Given the description of an element on the screen output the (x, y) to click on. 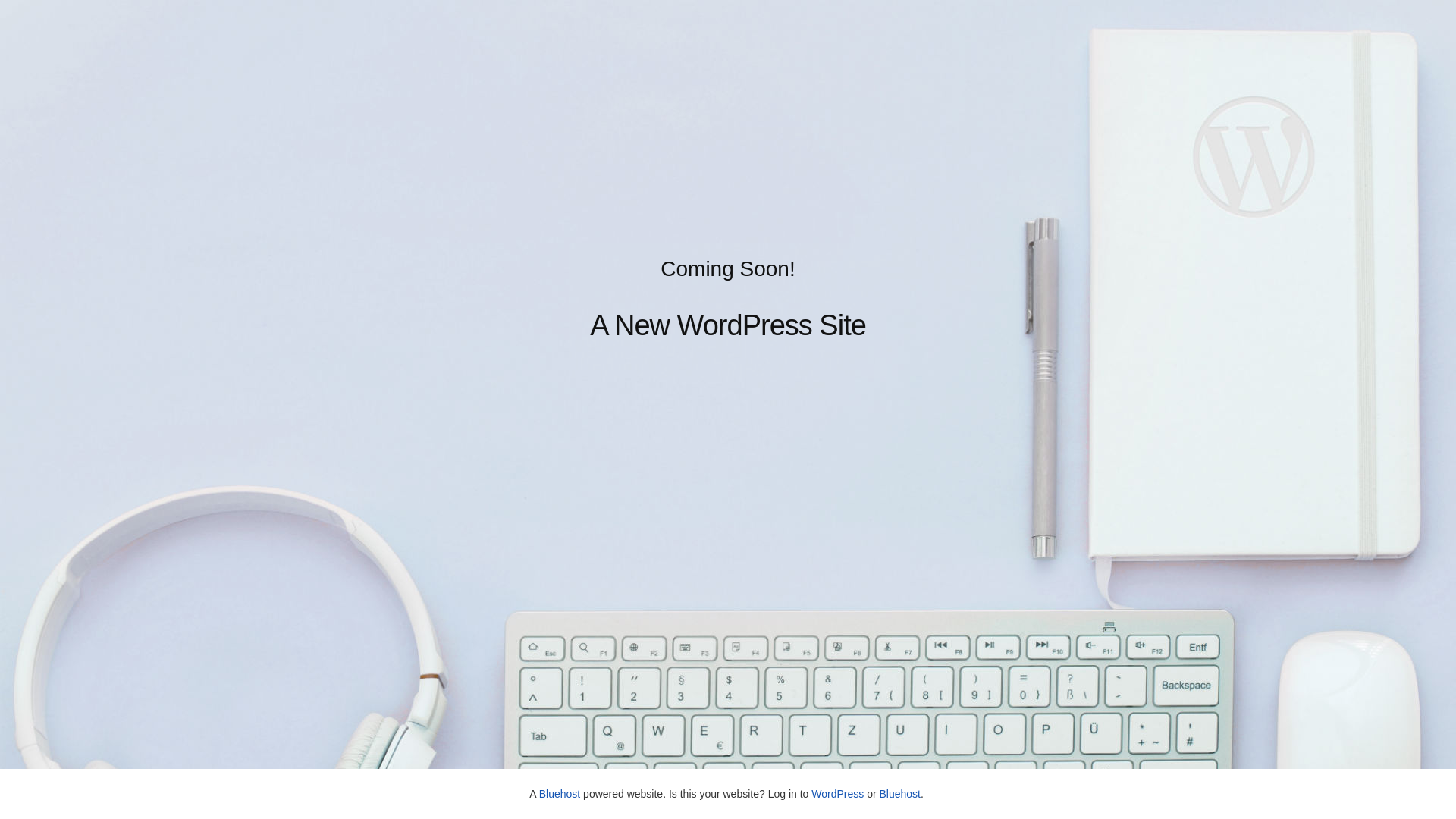
Bluehost Element type: text (898, 793)
WordPress Element type: text (837, 793)
Bluehost Element type: text (559, 793)
